Given the description of an element on the screen output the (x, y) to click on. 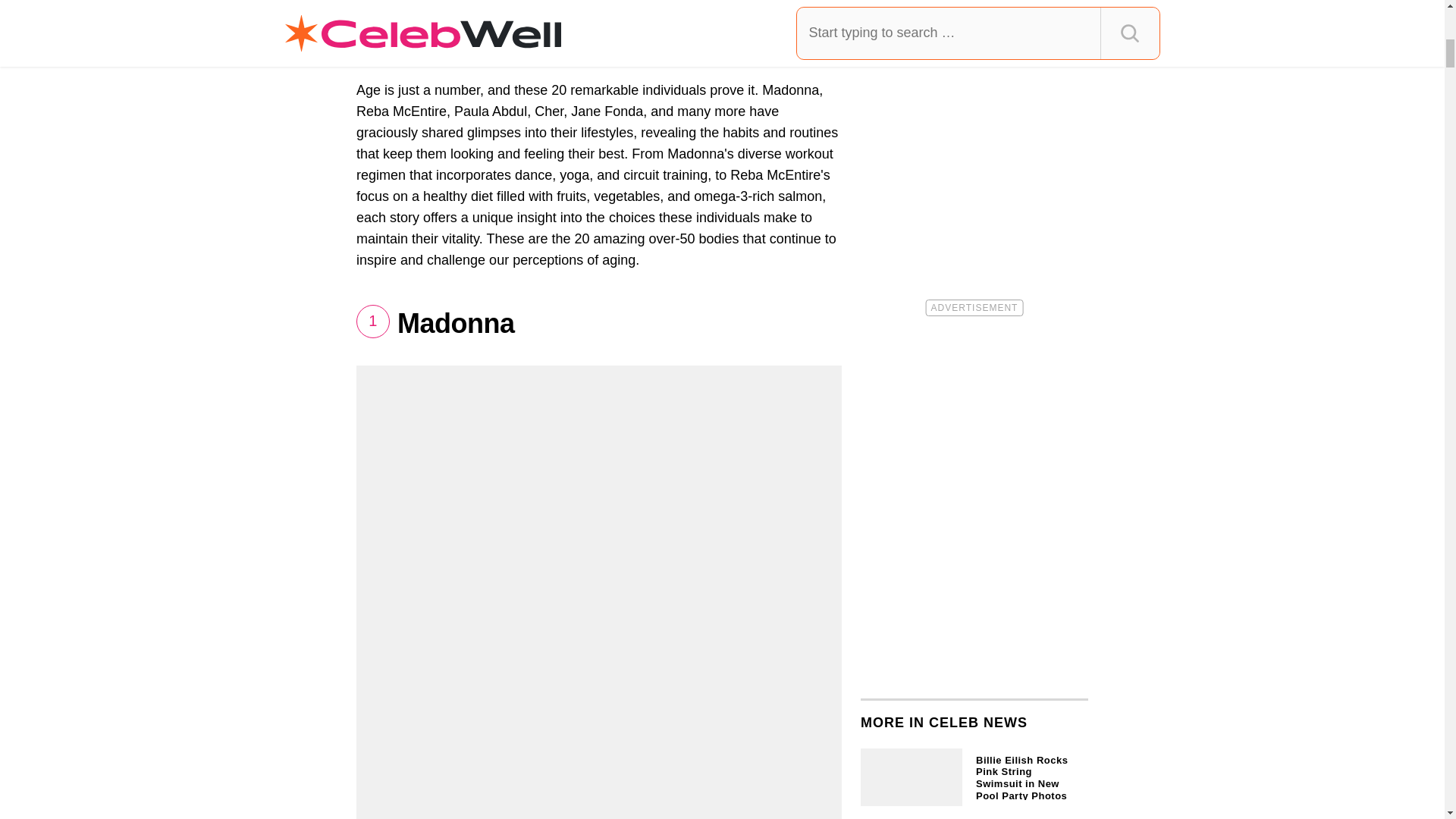
Share on Twitter (515, 49)
Share via e-mail (587, 49)
Facebook (407, 49)
Share on Facebook (407, 49)
Twitter (515, 49)
